Given the description of an element on the screen output the (x, y) to click on. 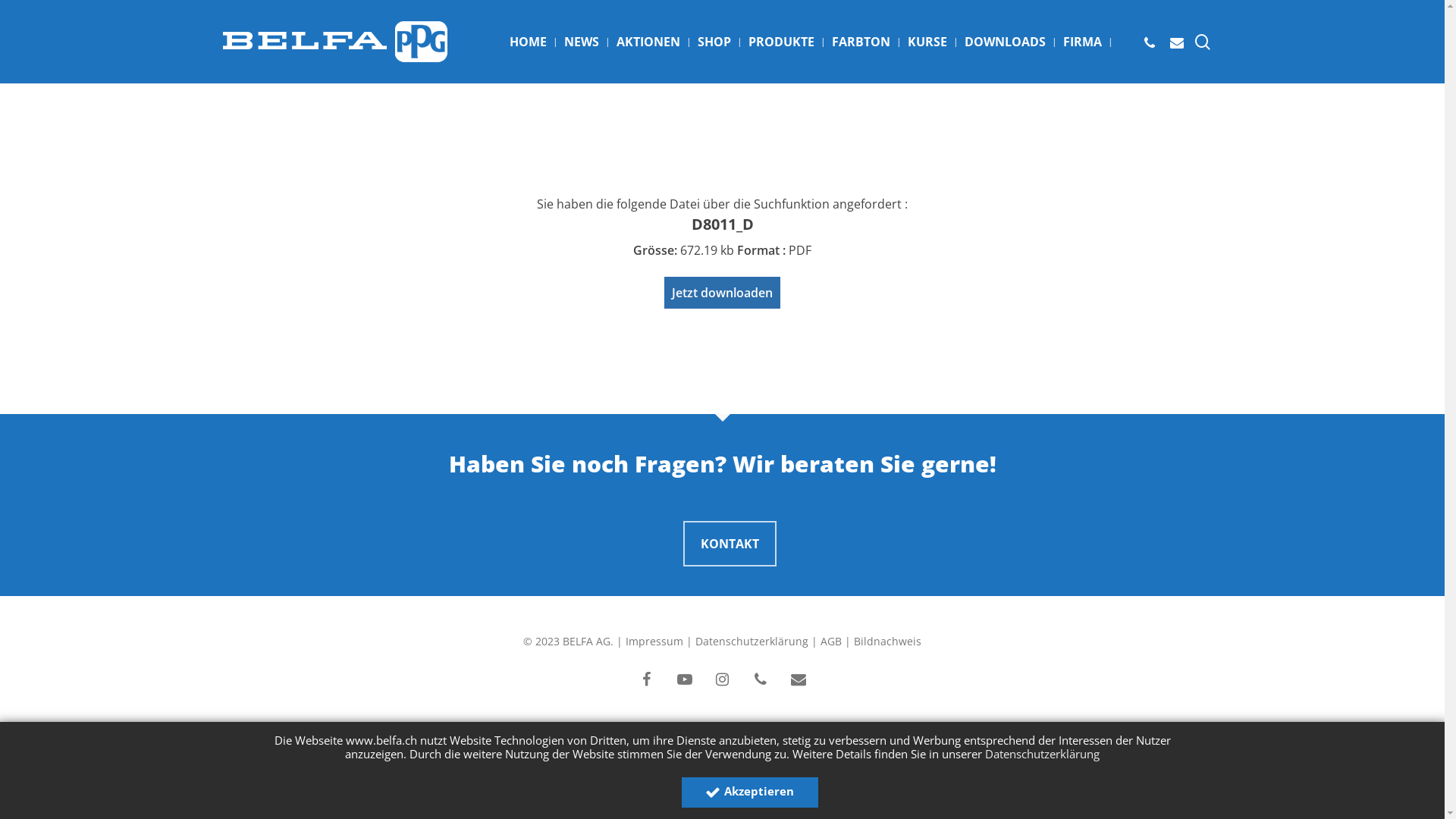
HOME Element type: text (527, 41)
KURSE Element type: text (926, 41)
PRODUKTE Element type: text (780, 41)
FIRMA Element type: text (1082, 41)
Bildnachweis Element type: text (887, 640)
AGB Element type: text (830, 640)
youtube Element type: text (684, 679)
PHONE Element type: text (1149, 41)
phone Element type: text (760, 679)
Jetzt downloaden Element type: text (722, 292)
DOWNLOADS Element type: text (1004, 41)
SHOP Element type: text (714, 41)
FARBTON Element type: text (860, 41)
KONTAKT Element type: text (729, 542)
Impressum Element type: text (654, 640)
AKTIONEN Element type: text (647, 41)
NEWS Element type: text (581, 41)
facebook Element type: text (646, 679)
instagram Element type: text (722, 679)
search Element type: text (1202, 41)
Akzeptieren Element type: text (748, 792)
email Element type: text (798, 679)
EMAIL Element type: text (1176, 41)
